Given the description of an element on the screen output the (x, y) to click on. 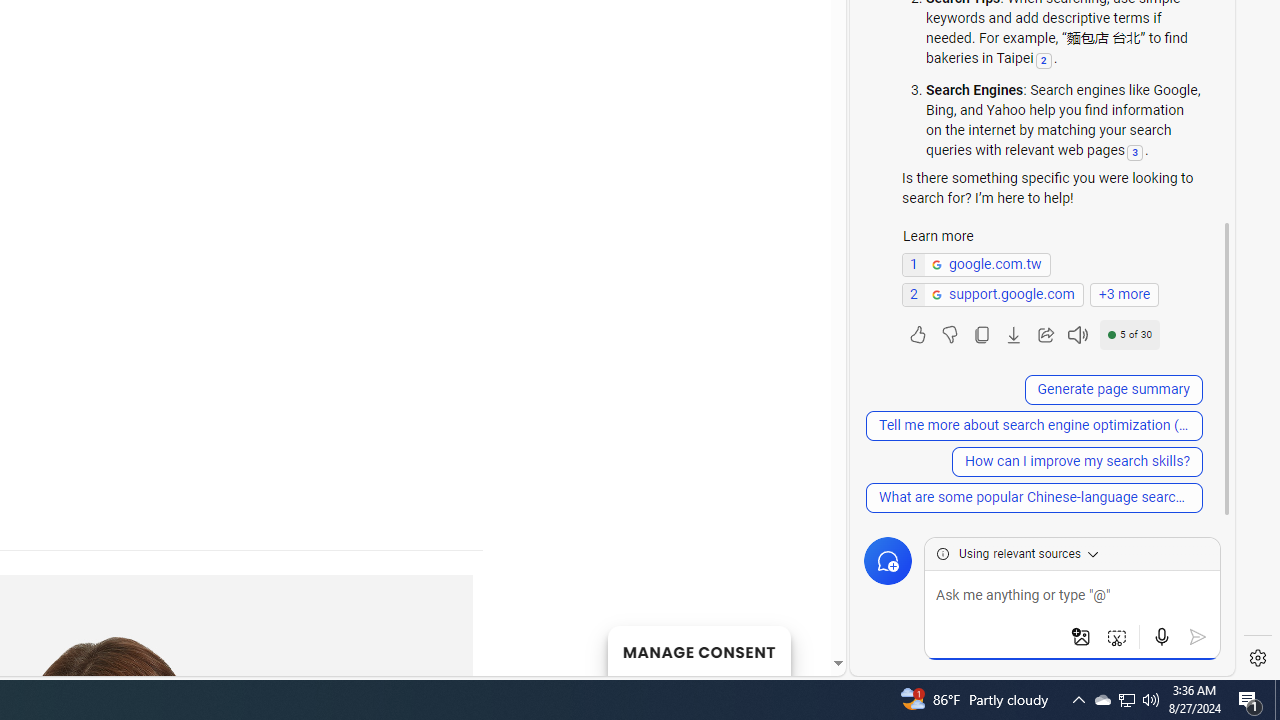
MANAGE CONSENT (698, 650)
